Given the description of an element on the screen output the (x, y) to click on. 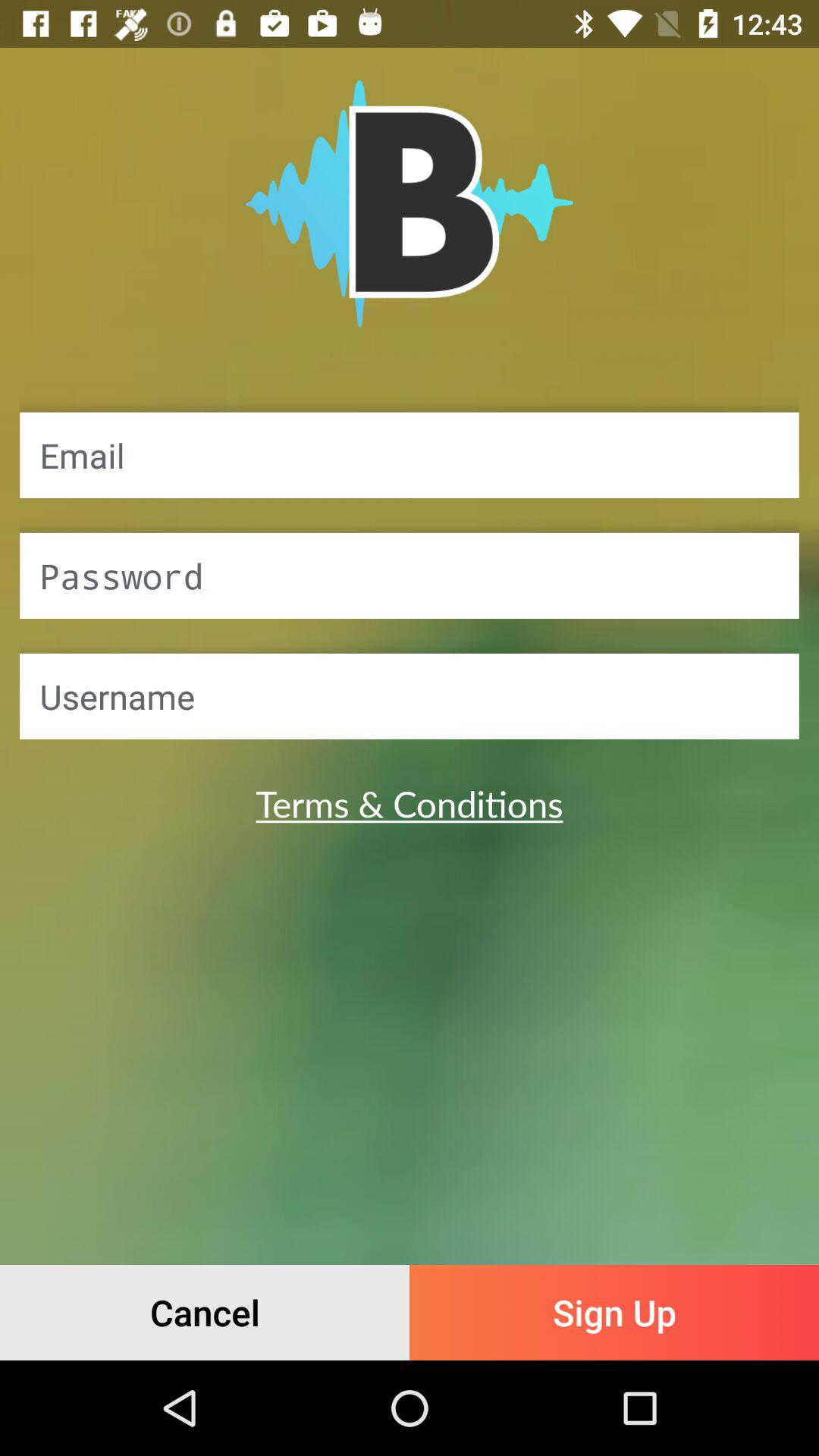
open icon to the right of the cancel item (614, 1312)
